Given the description of an element on the screen output the (x, y) to click on. 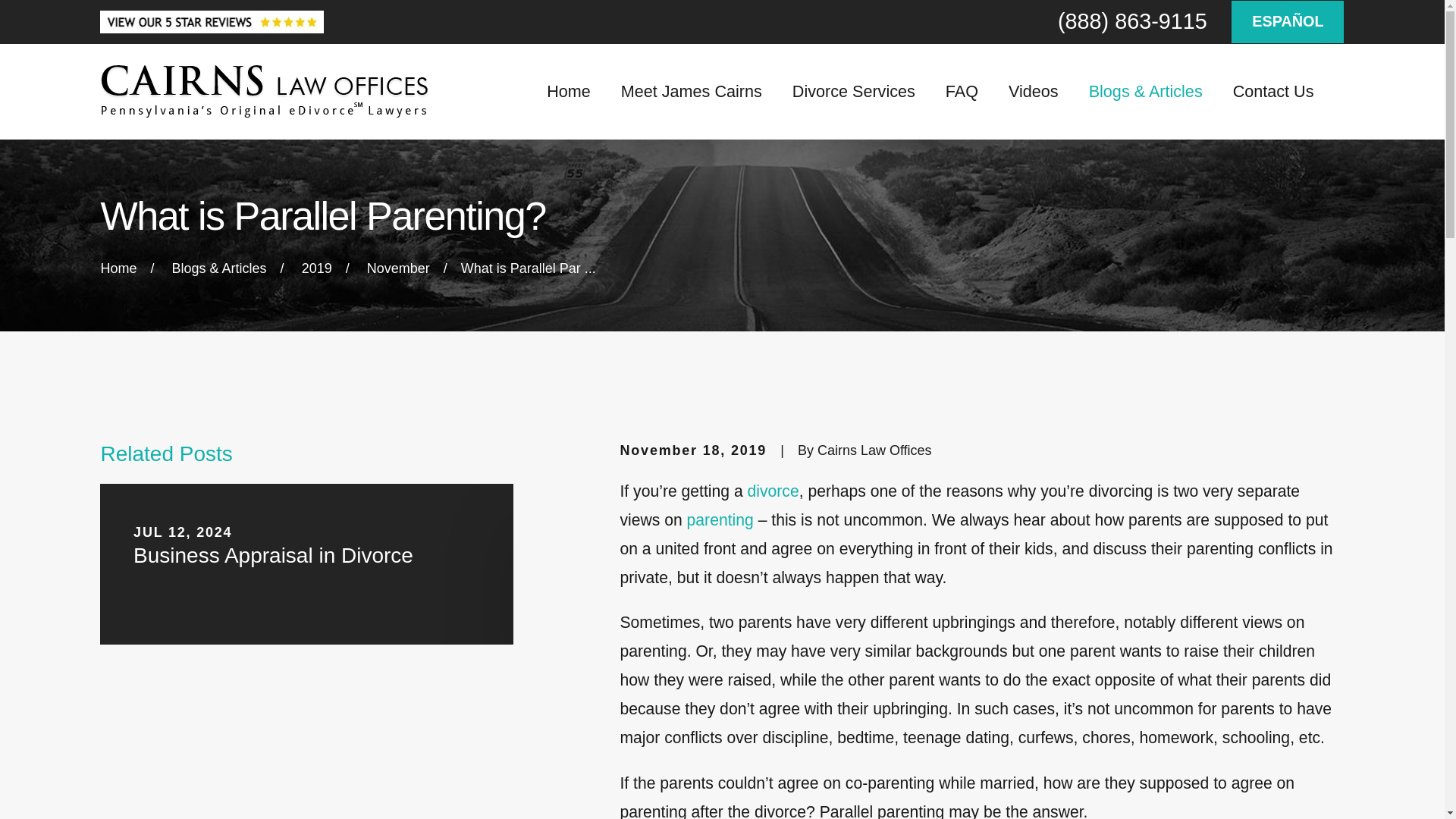
Go Home (118, 268)
Divorce Services (853, 91)
Home (264, 91)
Meet James Cairns (691, 91)
Videos (1033, 91)
